Given the description of an element on the screen output the (x, y) to click on. 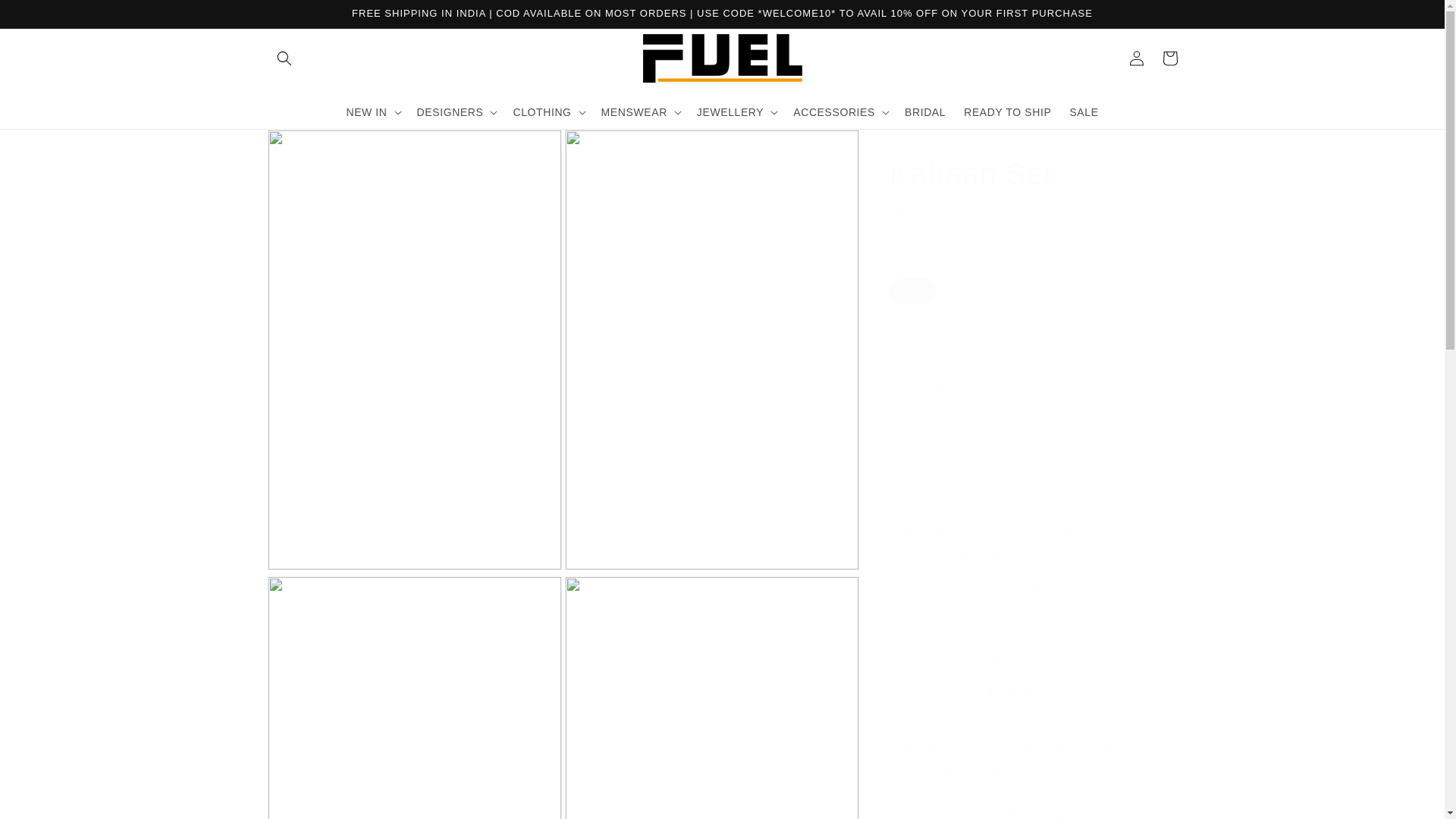
Skip to content (45, 17)
1 (941, 389)
Open media 4 in modal (711, 697)
Open media 3 in modal (413, 697)
